Given the description of an element on the screen output the (x, y) to click on. 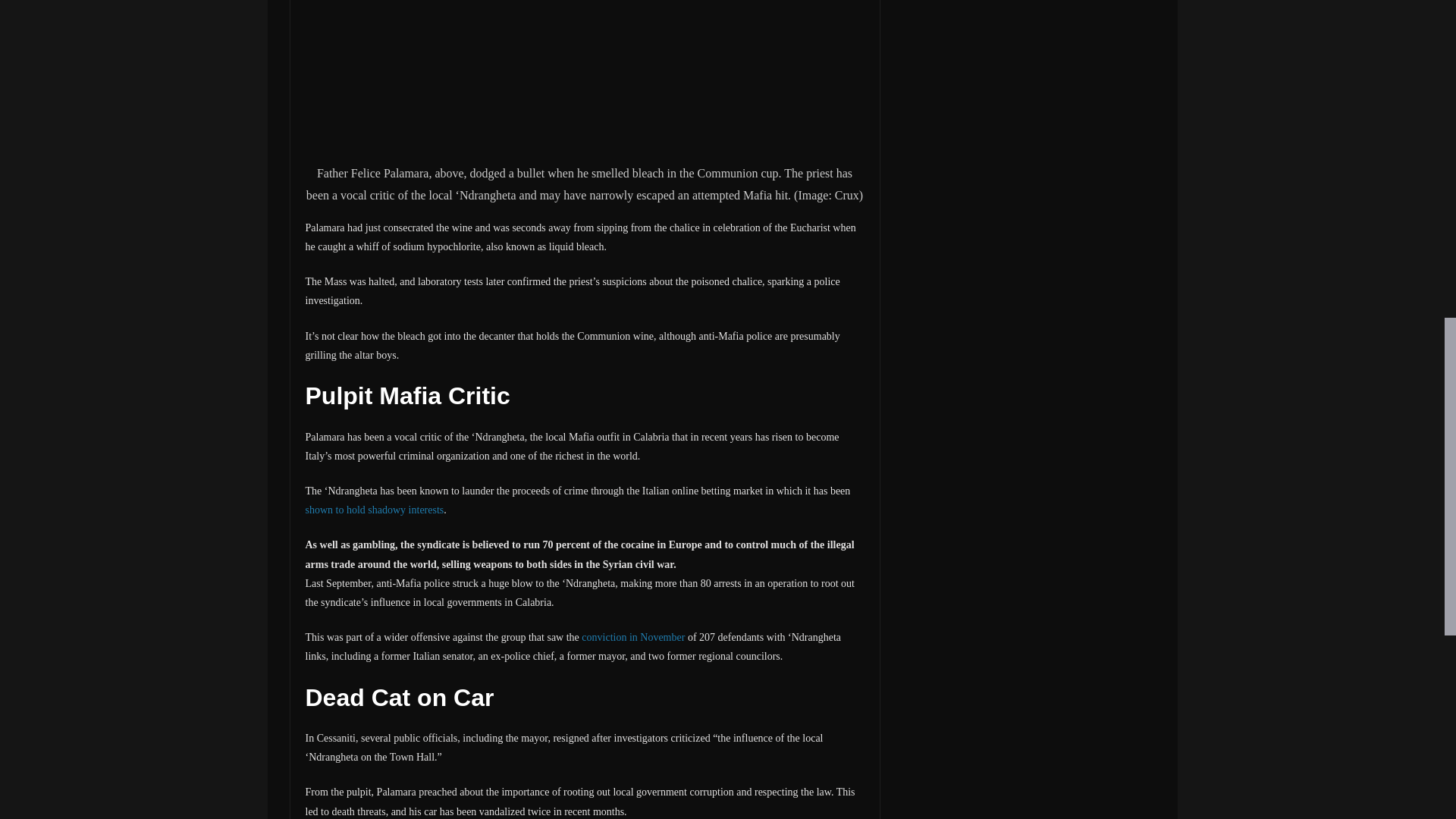
shown to hold shadowy interests (374, 509)
conviction in November (632, 636)
